Given the description of an element on the screen output the (x, y) to click on. 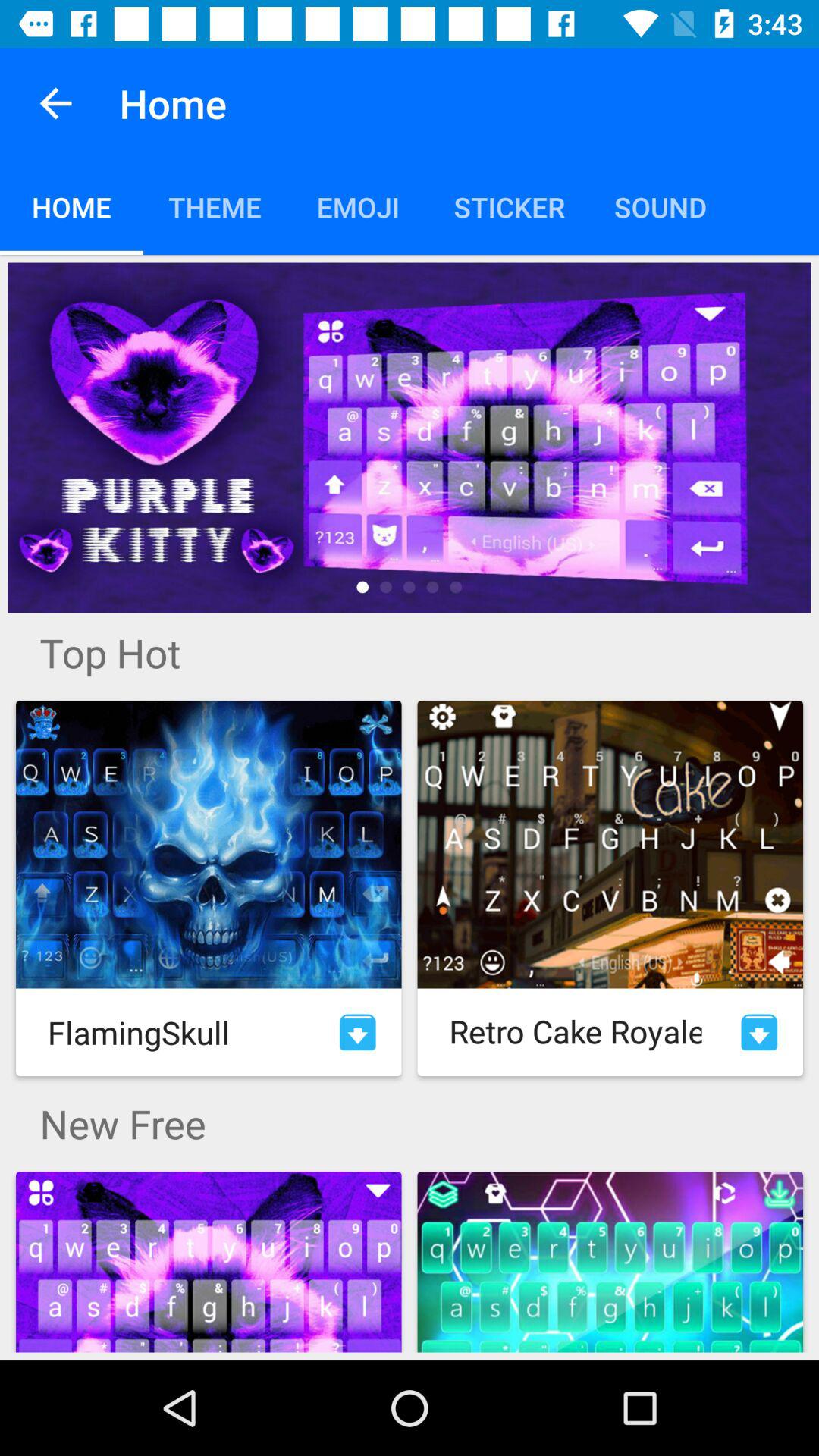
go back (55, 103)
